Given the description of an element on the screen output the (x, y) to click on. 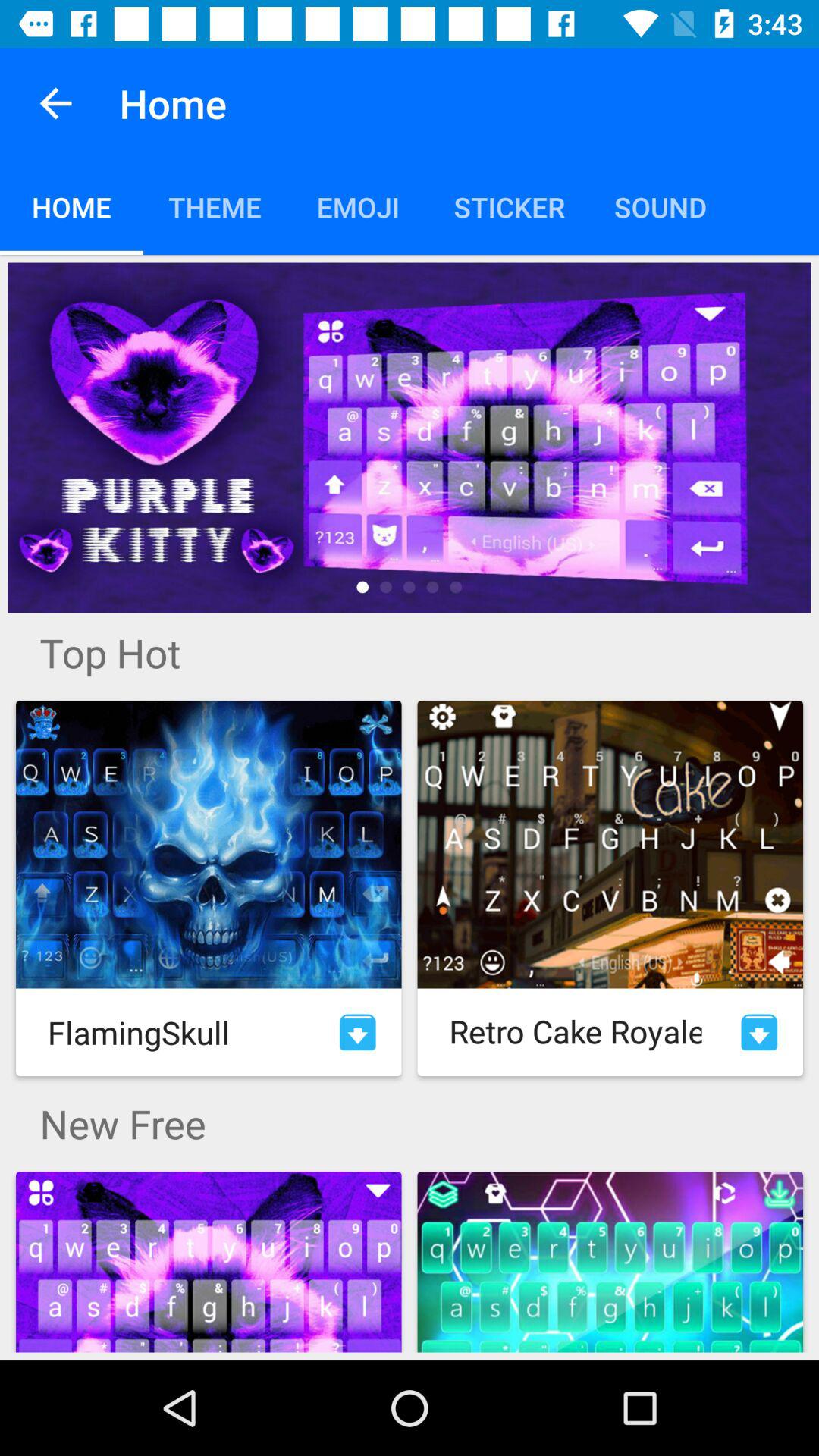
go back (55, 103)
